Given the description of an element on the screen output the (x, y) to click on. 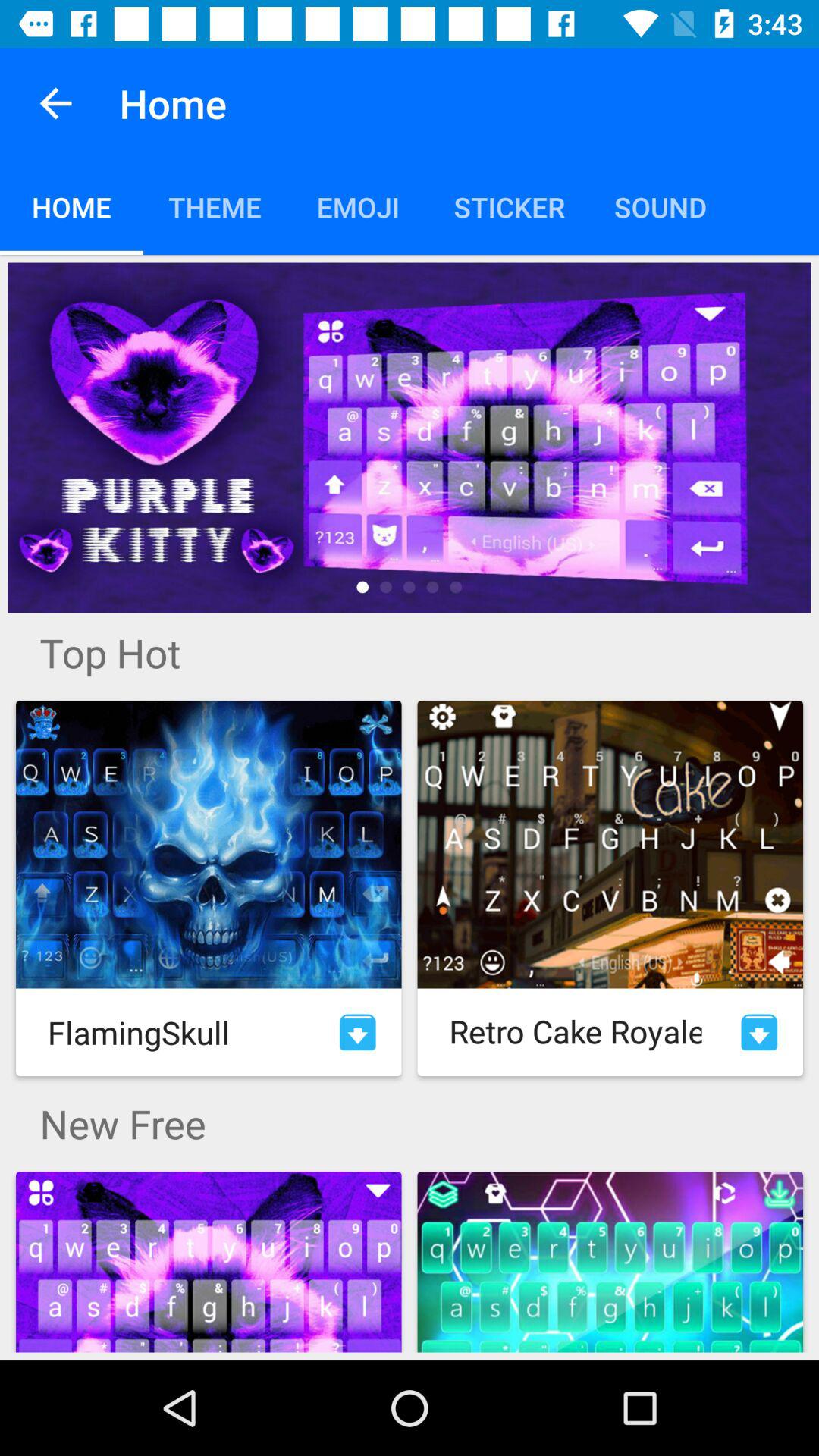
go back (55, 103)
